Given the description of an element on the screen output the (x, y) to click on. 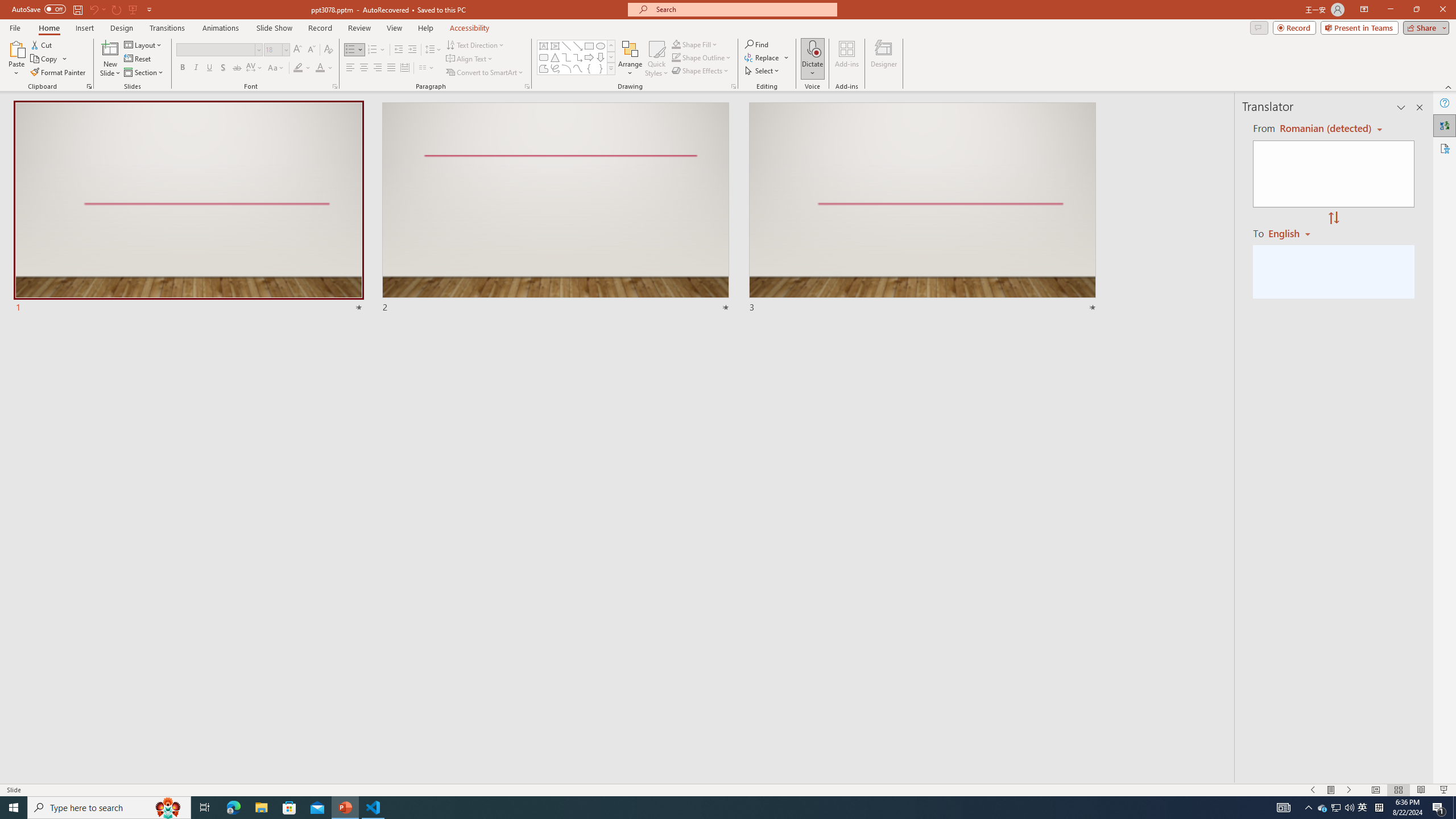
Distributed (404, 67)
Character Spacing (254, 67)
Decrease Indent (398, 49)
Rectangle: Rounded Corners (543, 57)
Cut (42, 44)
Section (144, 72)
Isosceles Triangle (554, 57)
